Given the description of an element on the screen output the (x, y) to click on. 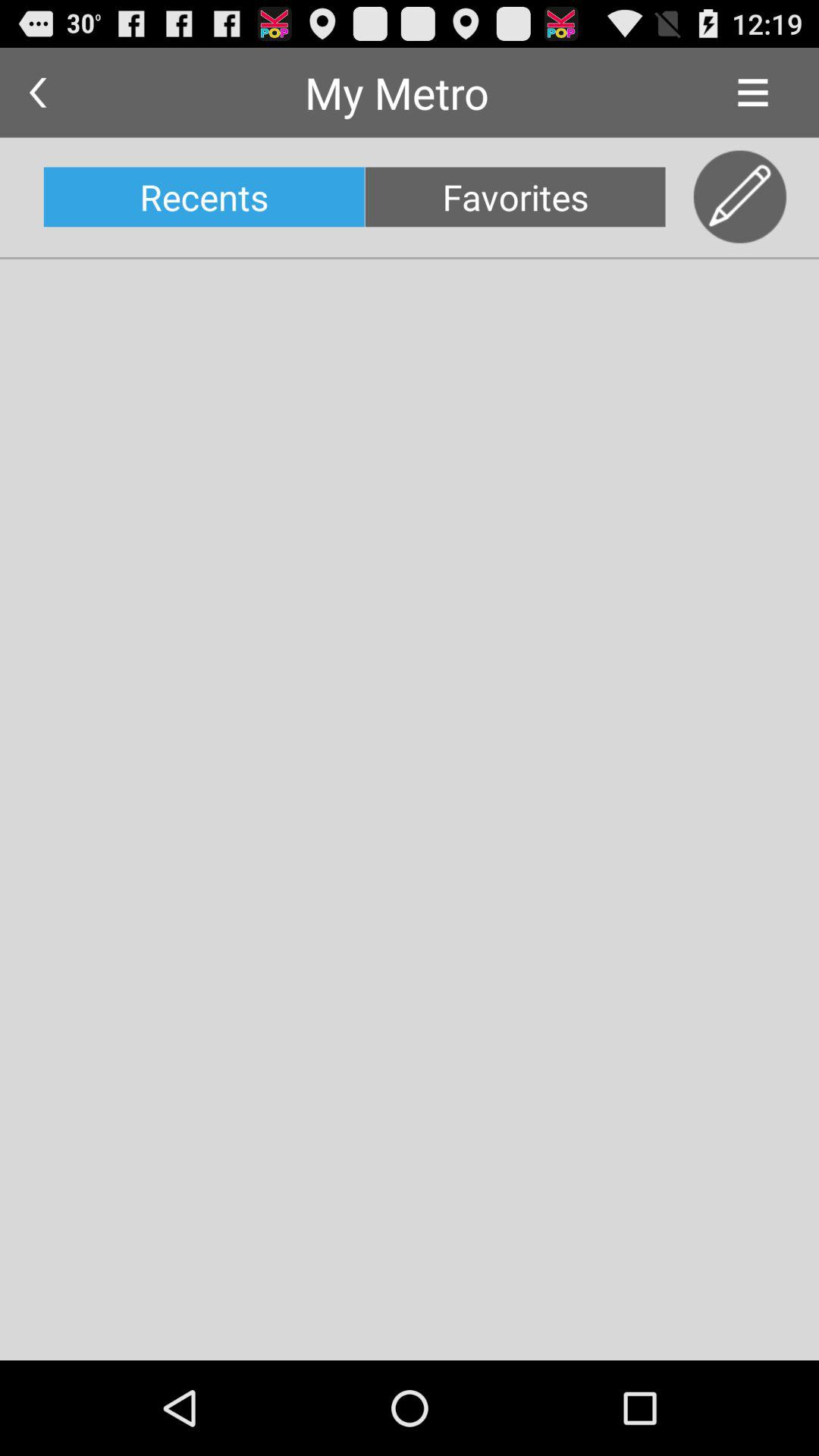
press icon above the recents icon (37, 92)
